Given the description of an element on the screen output the (x, y) to click on. 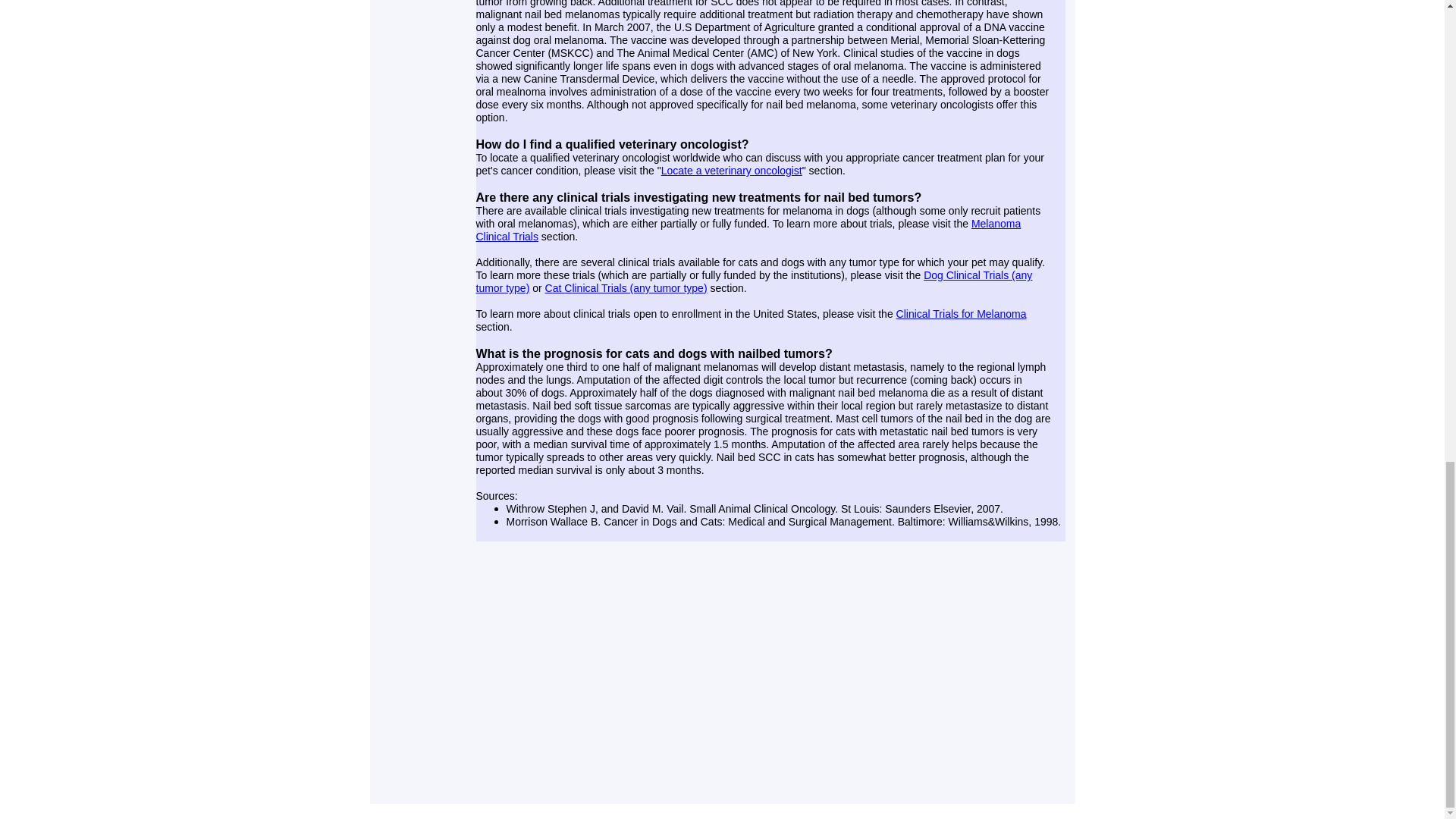
Clinical Trials for M (940, 313)
Melanoma (995, 223)
at (558, 287)
Locate a veterinary oncologist (731, 169)
Clinical Trials (507, 236)
elanoma (1005, 313)
